Given the description of an element on the screen output the (x, y) to click on. 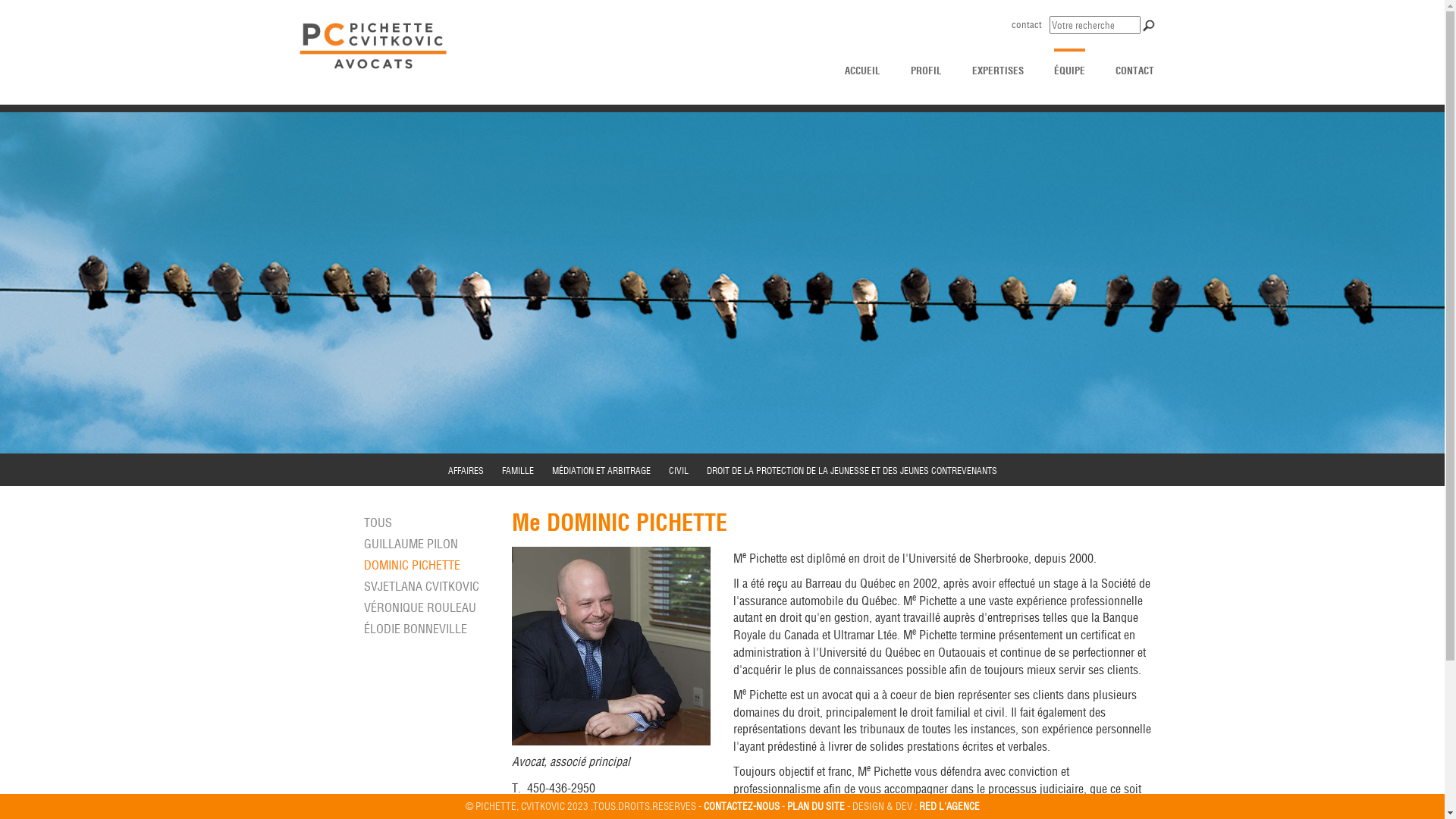
DOMINIC PICHETTE Element type: text (412, 564)
ACCUEIL Element type: text (862, 63)
RED L'AGENCE Element type: text (949, 806)
GUILLAUME PILON Element type: text (411, 543)
AFFAIRES Element type: text (464, 470)
PLAN DU SITE Element type: text (815, 806)
CIVIL Element type: text (678, 470)
contact Element type: text (1026, 24)
PROFIL Element type: text (925, 63)
TOUS Element type: text (378, 522)
SVJETLANA CVITKOVIC Element type: text (421, 585)
CONTACT Element type: text (1133, 63)
menu Element type: text (15, 11)
FAMILLE Element type: text (517, 470)
EXPERTISES Element type: text (997, 63)
CONTACTEZ-NOUS Element type: text (741, 806)
